Given the description of an element on the screen output the (x, y) to click on. 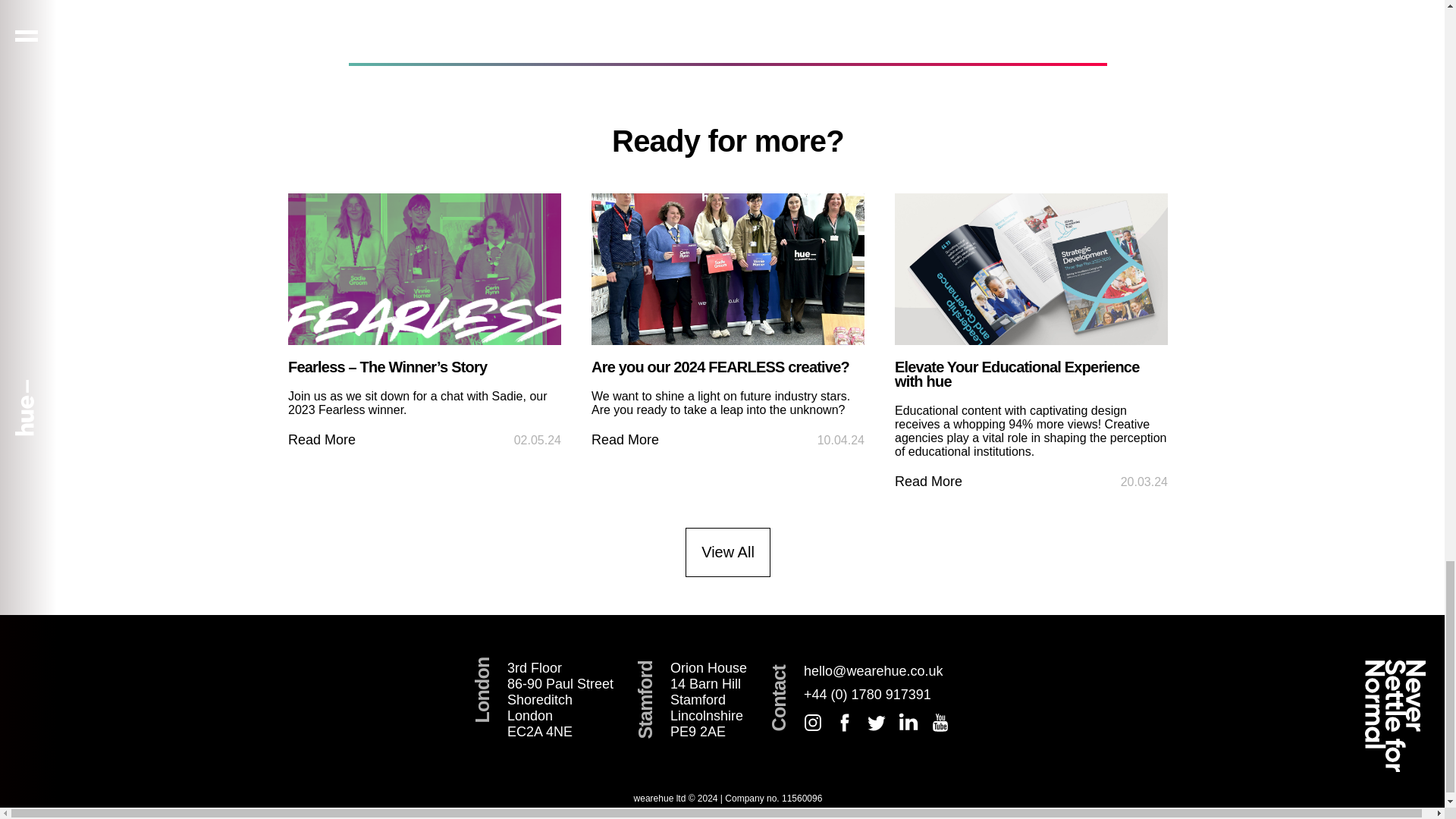
View All (559, 700)
